Given the description of an element on the screen output the (x, y) to click on. 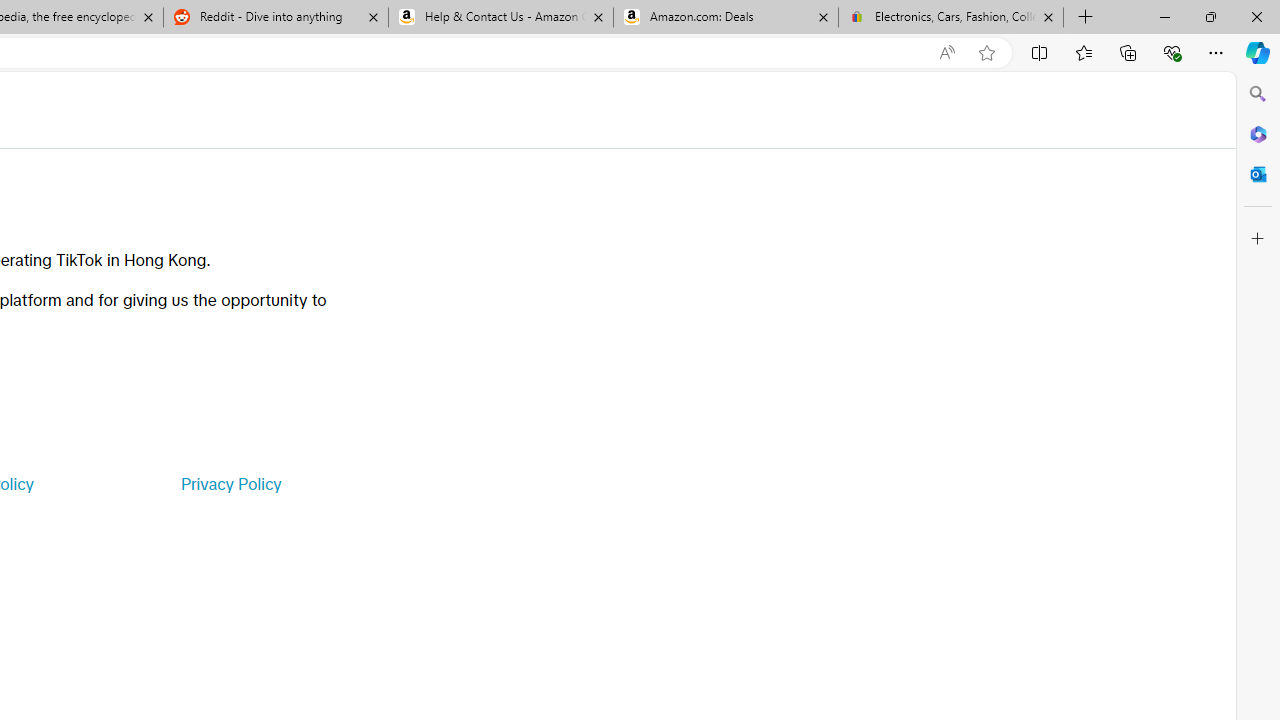
Privacy Policy (230, 484)
Help & Contact Us - Amazon Customer Service (501, 17)
Reddit - Dive into anything (275, 17)
Amazon.com: Deals (726, 17)
